Given the description of an element on the screen output the (x, y) to click on. 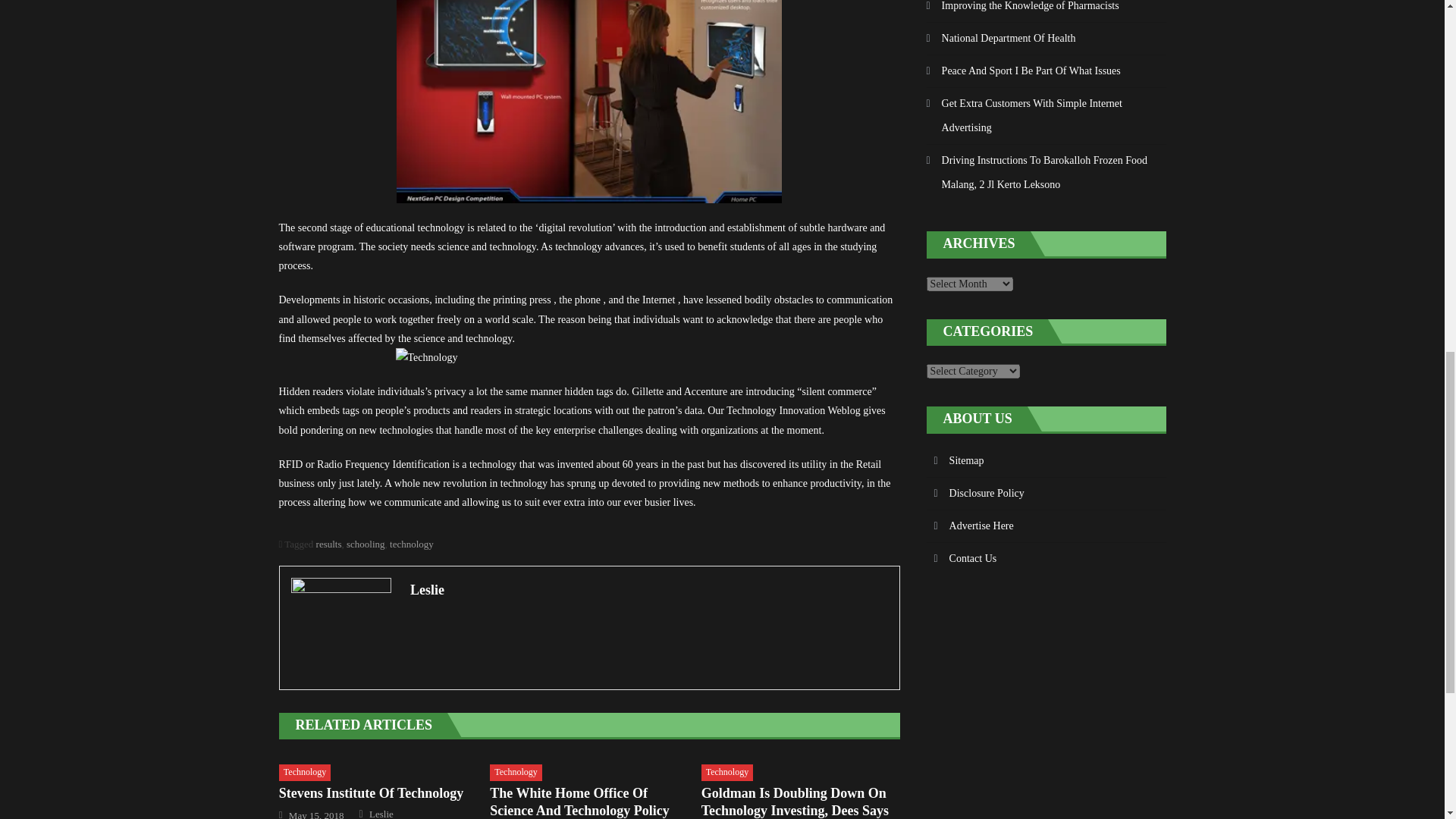
technology (411, 543)
schooling (365, 543)
results (328, 543)
